Given the description of an element on the screen output the (x, y) to click on. 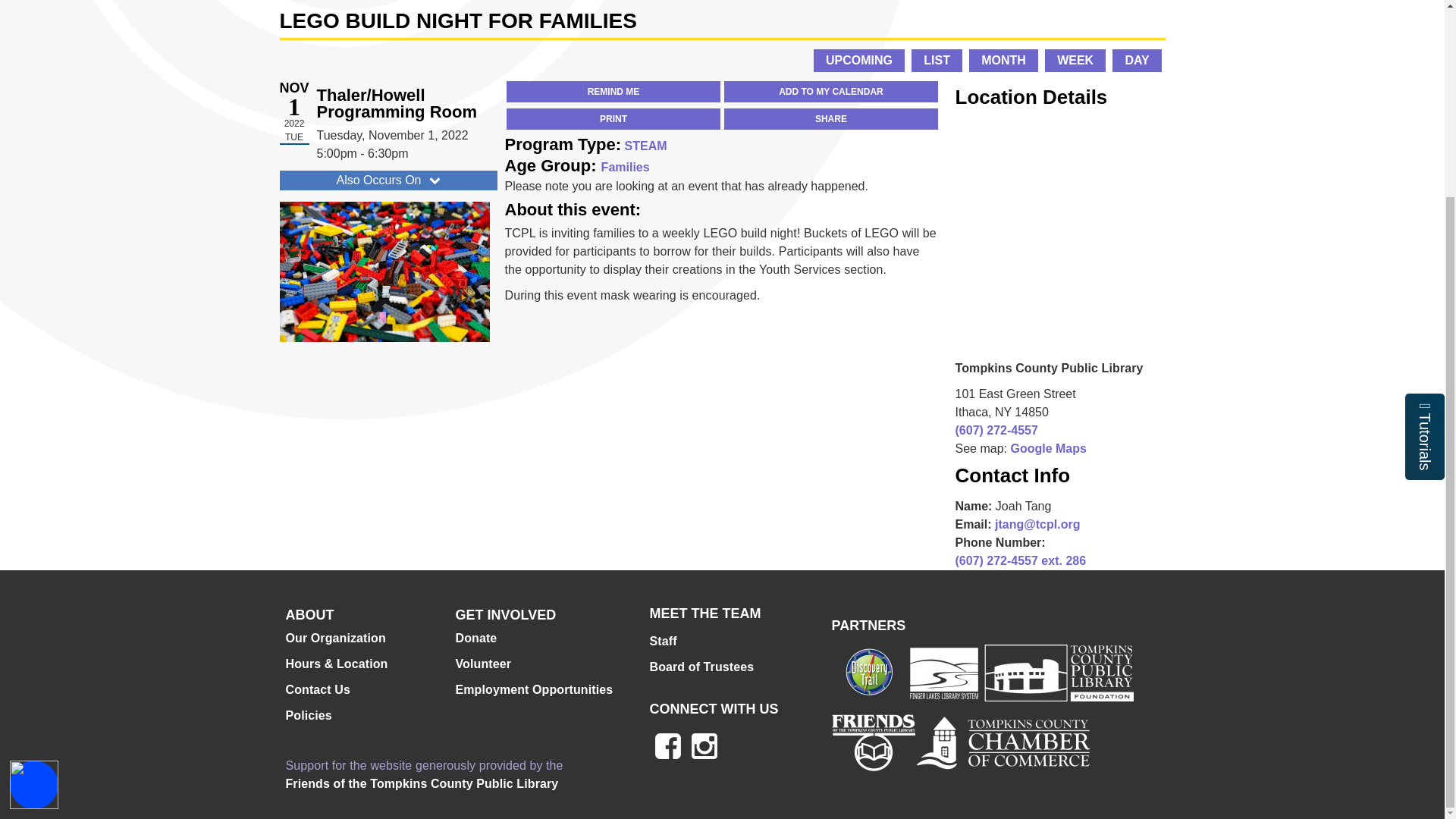
Friends of the Tompkins County Public Library (421, 783)
Share this event (830, 118)
TCPL Foundation (1055, 672)
Tompkins County Chamber of Commerce (1002, 742)
Finger Lakes Library System (943, 672)
Discovery Trail (869, 672)
Remind Me (612, 91)
Friends of the TCPL (872, 742)
Instagram (703, 746)
Print this event (612, 118)
Accessibility Menu (34, 535)
Add To My Calendar (830, 91)
Facebook (667, 746)
